Given the description of an element on the screen output the (x, y) to click on. 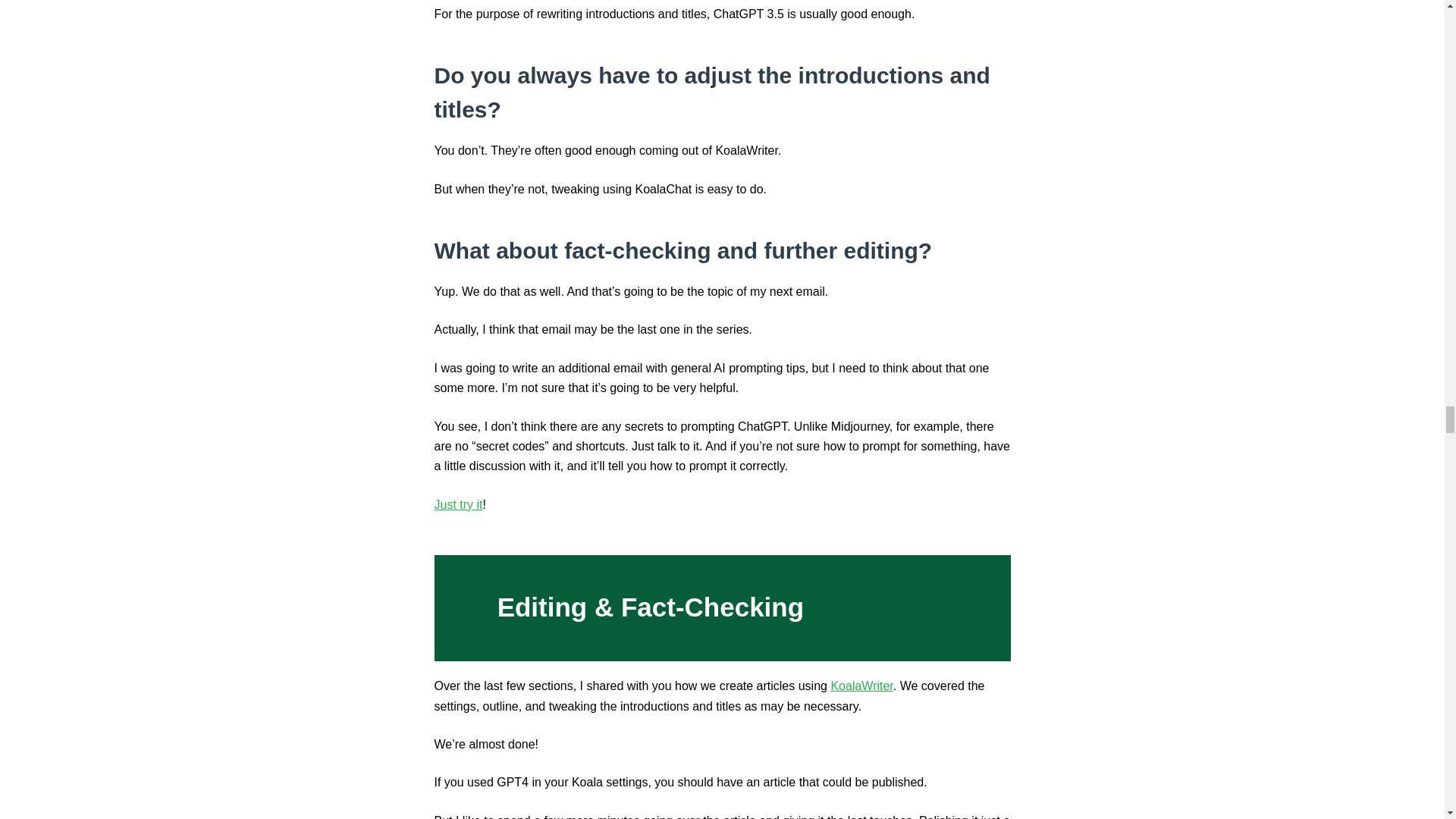
Just try it (457, 504)
KoalaWriter (860, 685)
